Given the description of an element on the screen output the (x, y) to click on. 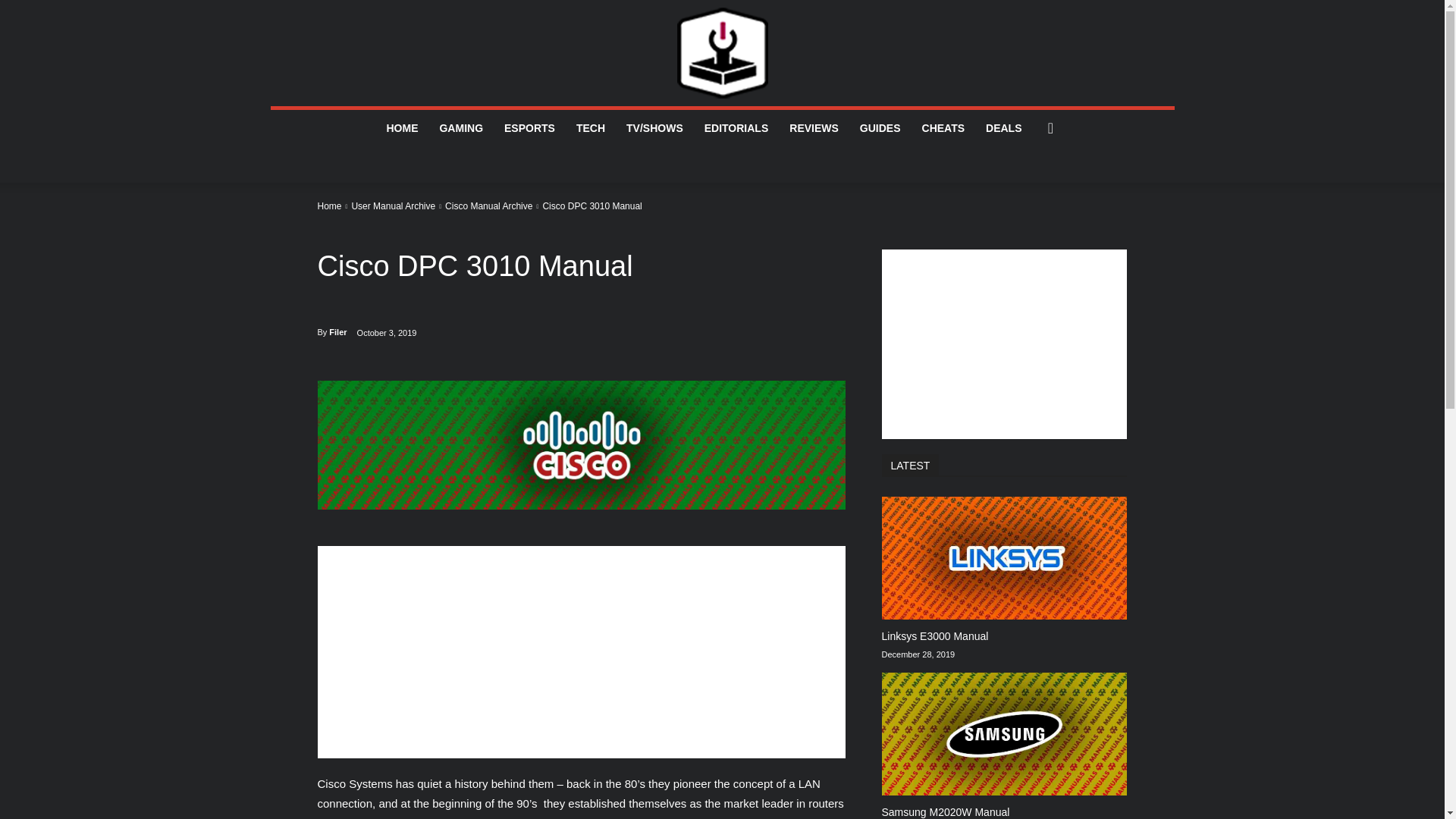
CHEATS (943, 127)
REVIEWS (813, 127)
ESPORTS (529, 127)
GAMING (460, 127)
Cisco DPC 3010 Manual (580, 444)
View all posts in User Manual Archive (392, 205)
Home (328, 205)
DEALS (1003, 127)
Cisco Manual Archive (488, 205)
Filer (337, 332)
Samsung M2020W Manual (944, 811)
Advertisement (580, 652)
Linksys E3000 Manual (934, 635)
GUIDES (879, 127)
HOME (401, 127)
